Given the description of an element on the screen output the (x, y) to click on. 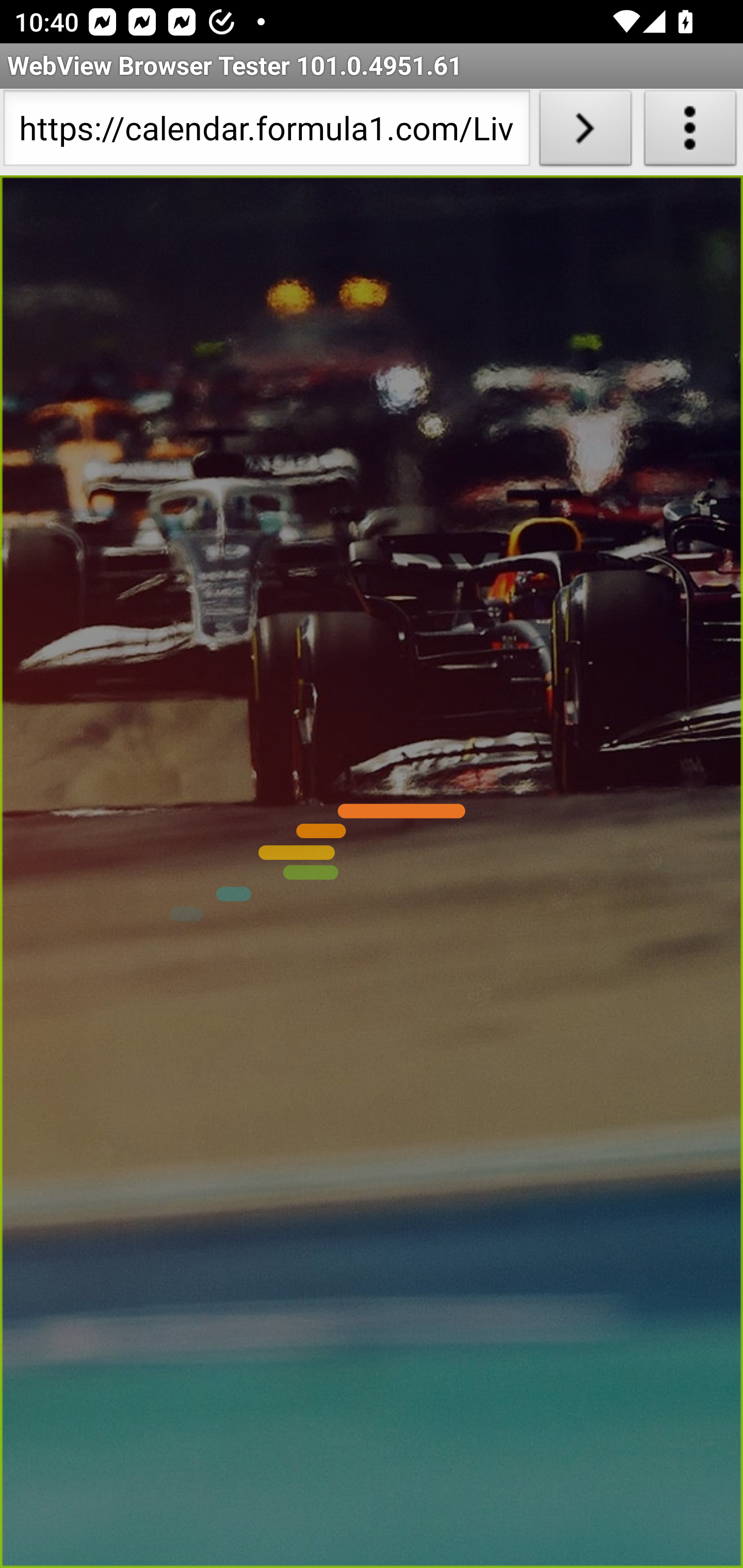
https://calendar.formula1.com/Liverpool (266, 132)
Load URL (585, 132)
About WebView (690, 132)
